Given the description of an element on the screen output the (x, y) to click on. 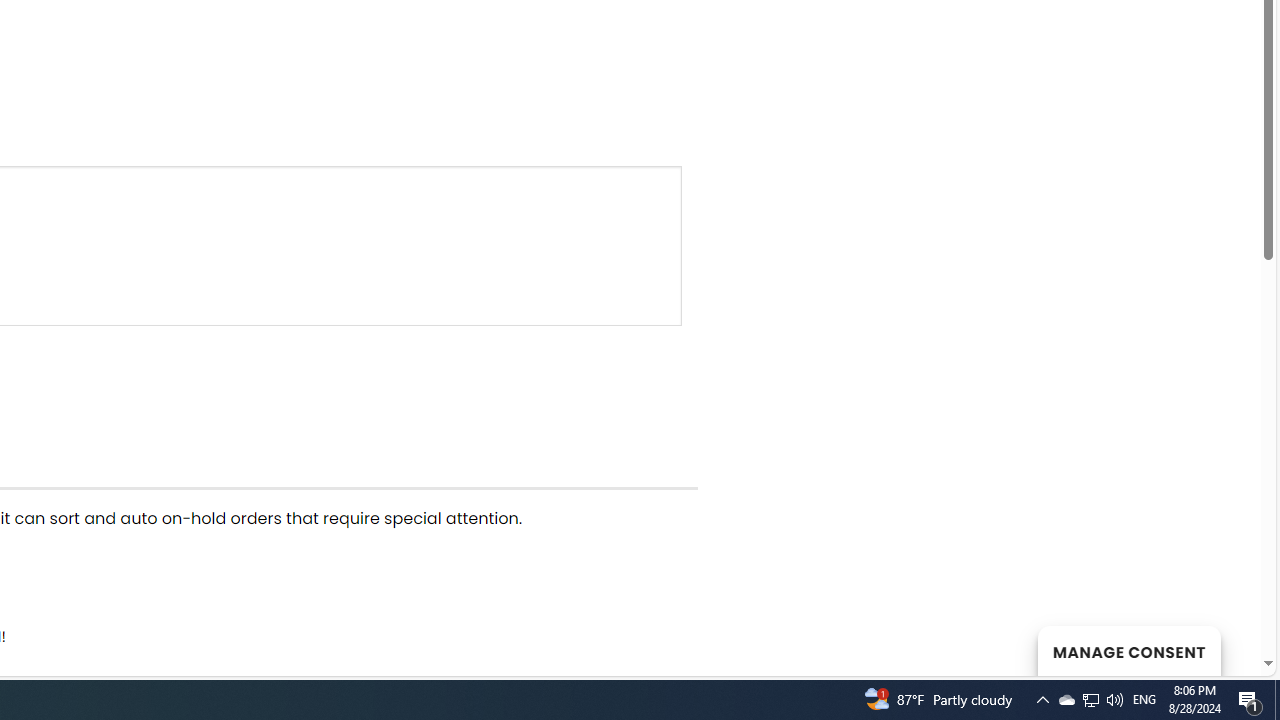
MANAGE CONSENT (1128, 650)
